Given the description of an element on the screen output the (x, y) to click on. 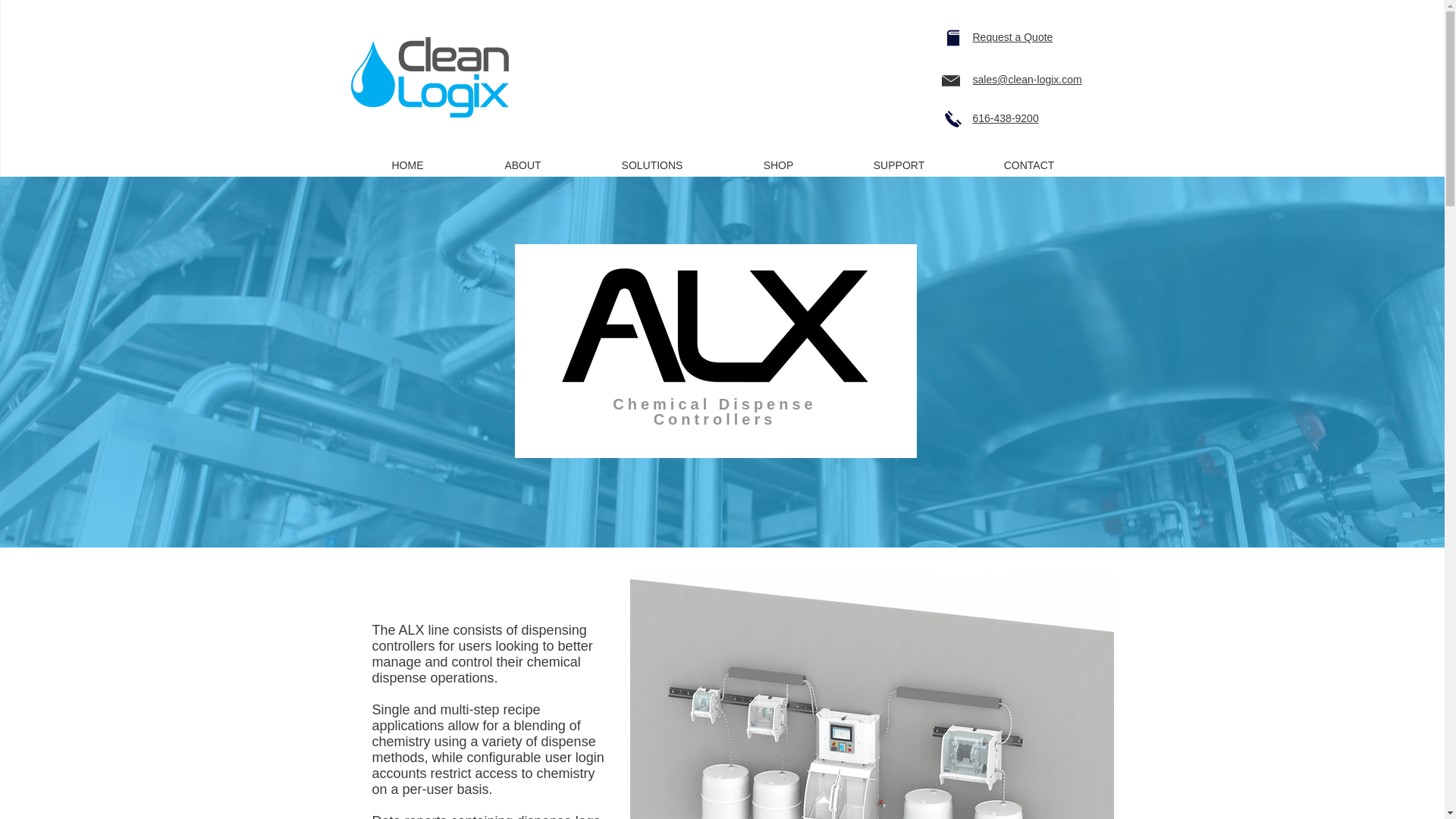
Clean Logix (429, 76)
Request a Quote (1012, 37)
SHOP (778, 158)
ABOUT (522, 158)
CONTACT (1028, 158)
HOME (407, 158)
616-438-9200 (1005, 118)
